Given the description of an element on the screen output the (x, y) to click on. 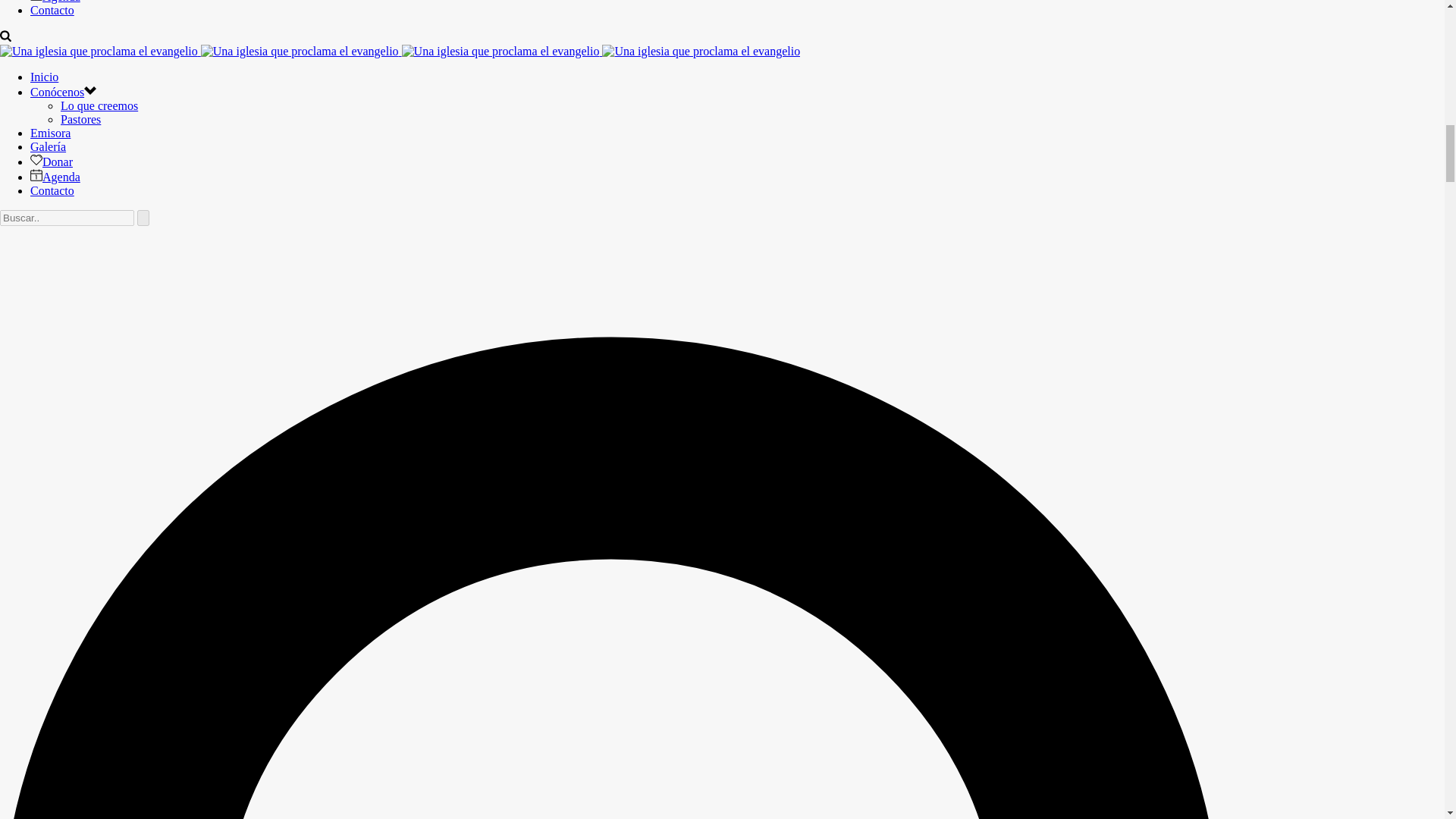
Pastores (80, 119)
Una iglesia que proclama el evangelio (500, 51)
Inicio (44, 76)
Lo que creemos (99, 105)
Contacto (52, 190)
Donar (51, 161)
Contacto (52, 190)
Una iglesia que proclama el evangelio (99, 51)
Agenda (55, 176)
Emisora (49, 132)
Contacto (52, 10)
Contacto (52, 10)
Agenda (55, 1)
Pastores (80, 119)
Agenda (55, 1)
